Given the description of an element on the screen output the (x, y) to click on. 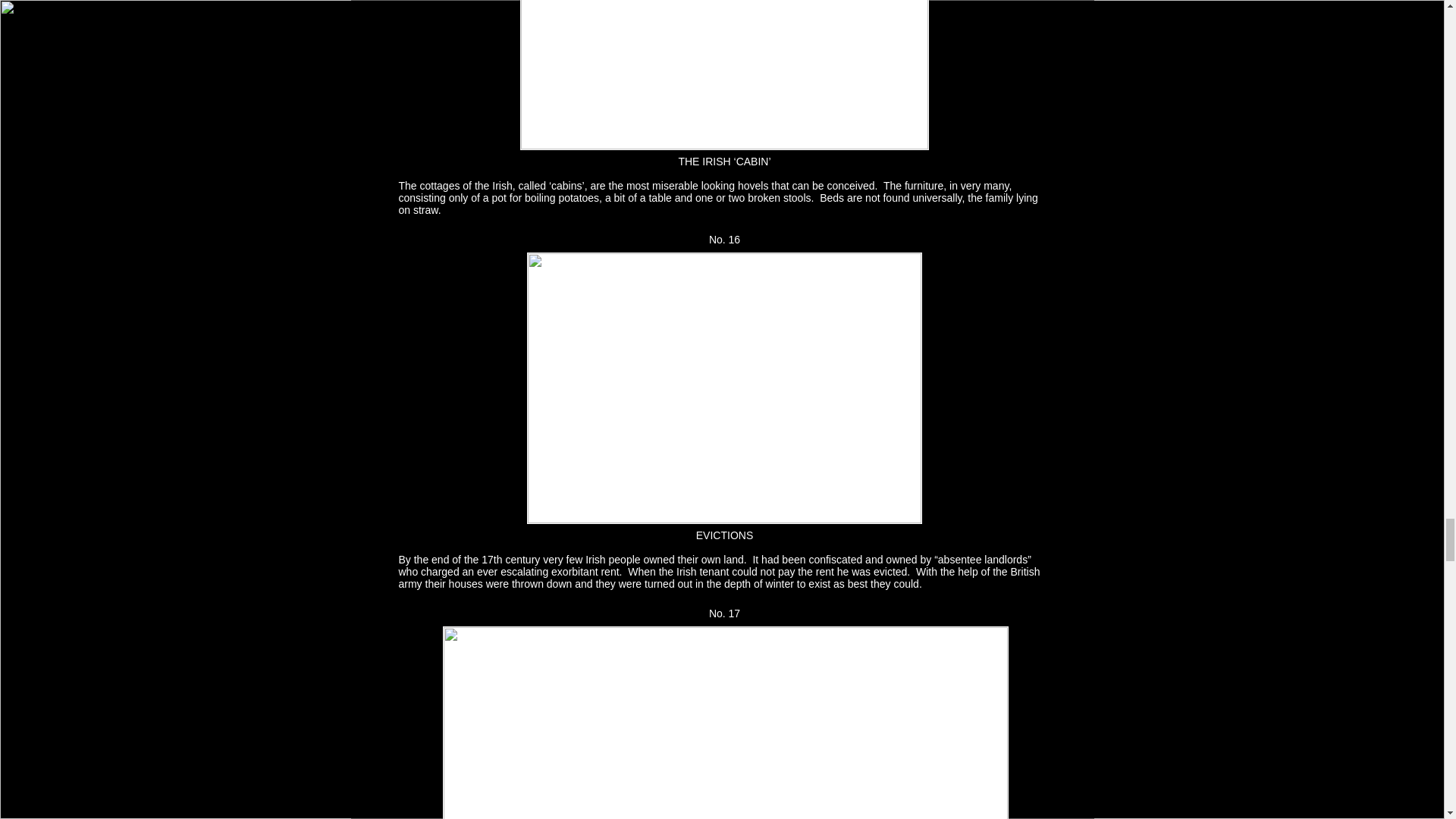
IMG-Chapter9P.jpg (723, 74)
IMG-Chapter9Q.jpg (723, 388)
IMG-Chapter9R.jpg (725, 722)
